Given the description of an element on the screen output the (x, y) to click on. 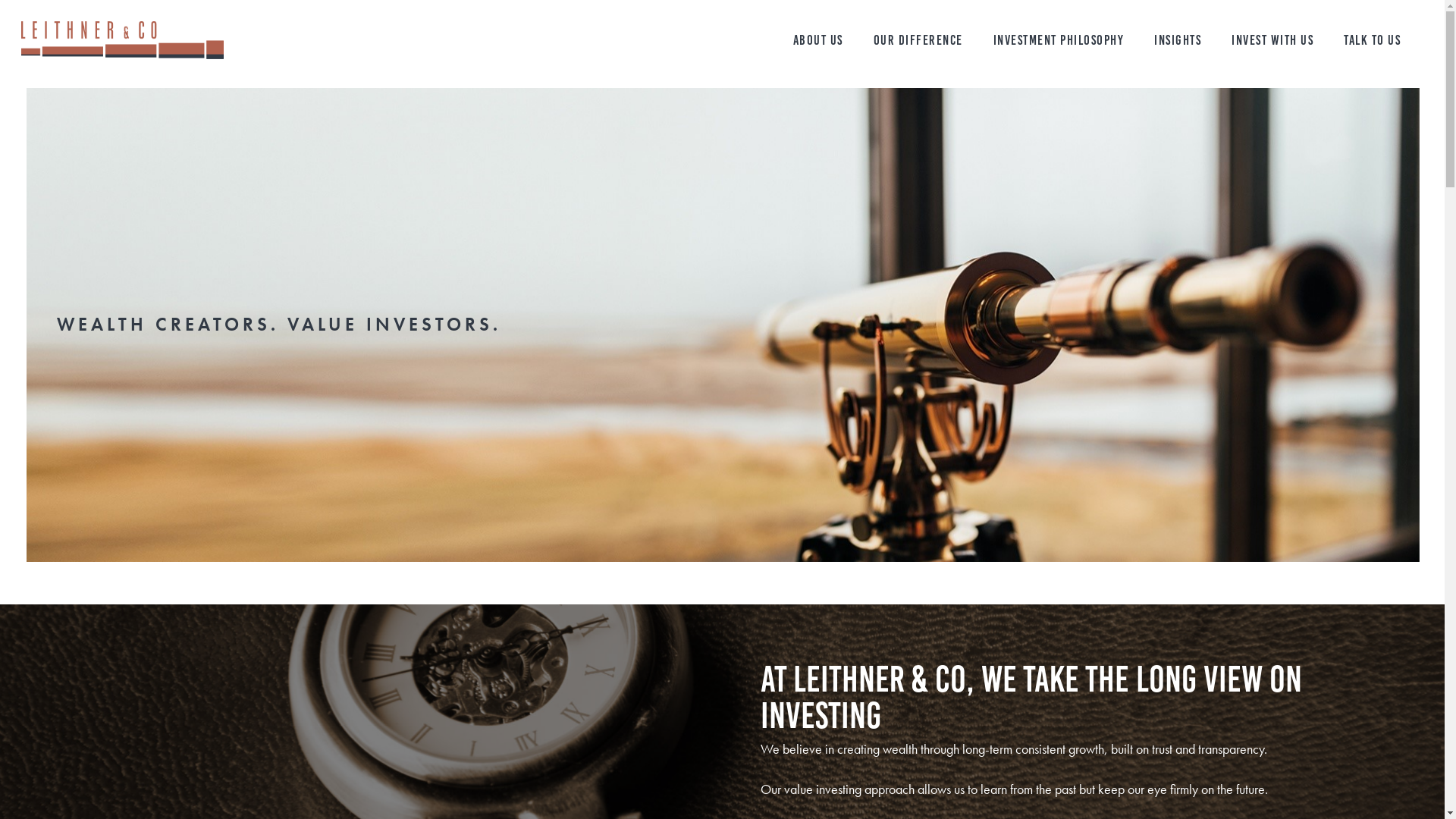
INVEST WITH US Element type: text (1272, 40)
OUR DIFFERENCE Element type: text (918, 40)
INSIGHTS Element type: text (1177, 40)
TALK TO US Element type: text (1371, 40)
INVESTMENT PHILOSOPHY Element type: text (1058, 40)
ABOUT US Element type: text (818, 40)
